Given the description of an element on the screen output the (x, y) to click on. 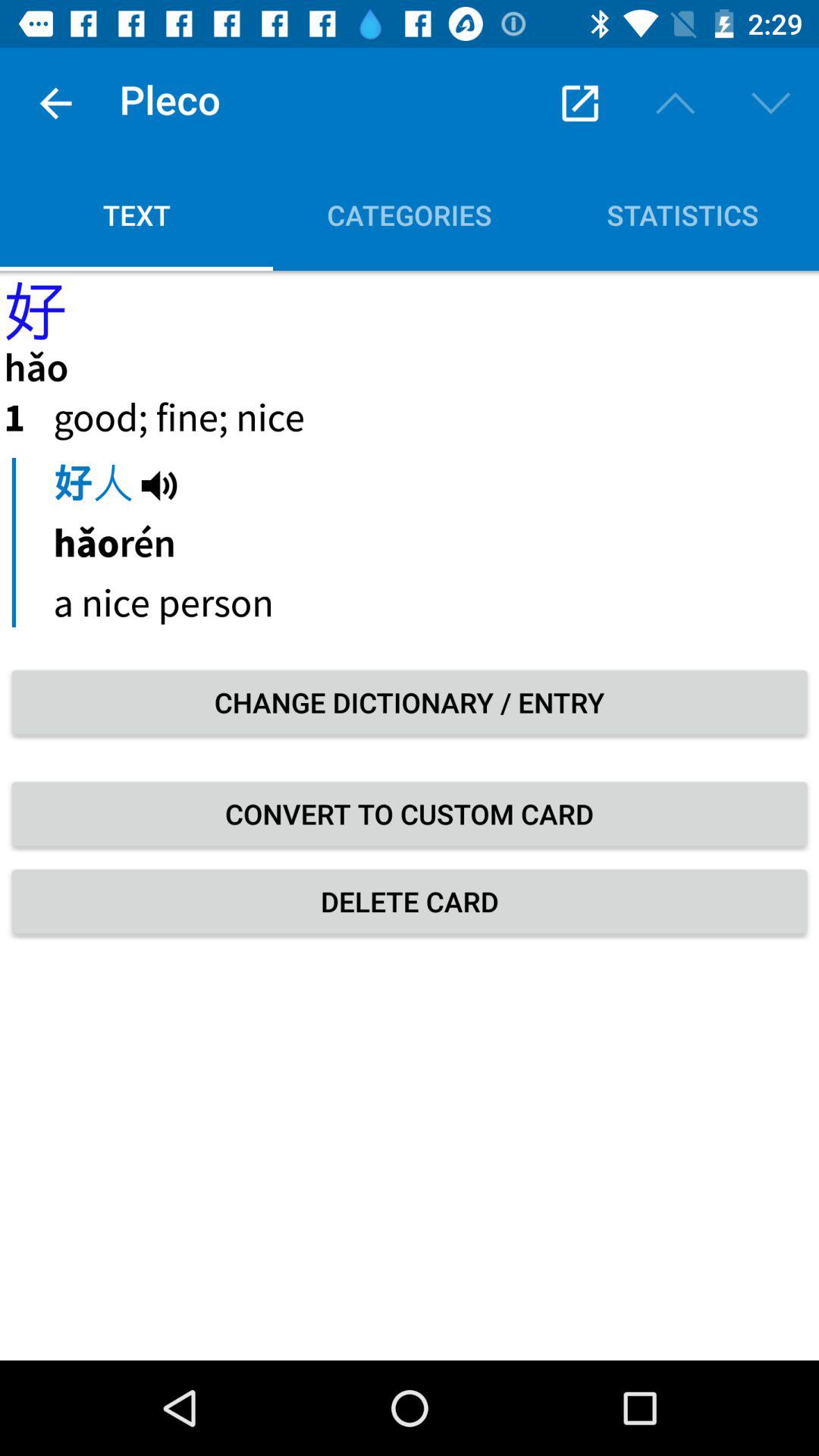
press the item next to text icon (579, 103)
